Given the description of an element on the screen output the (x, y) to click on. 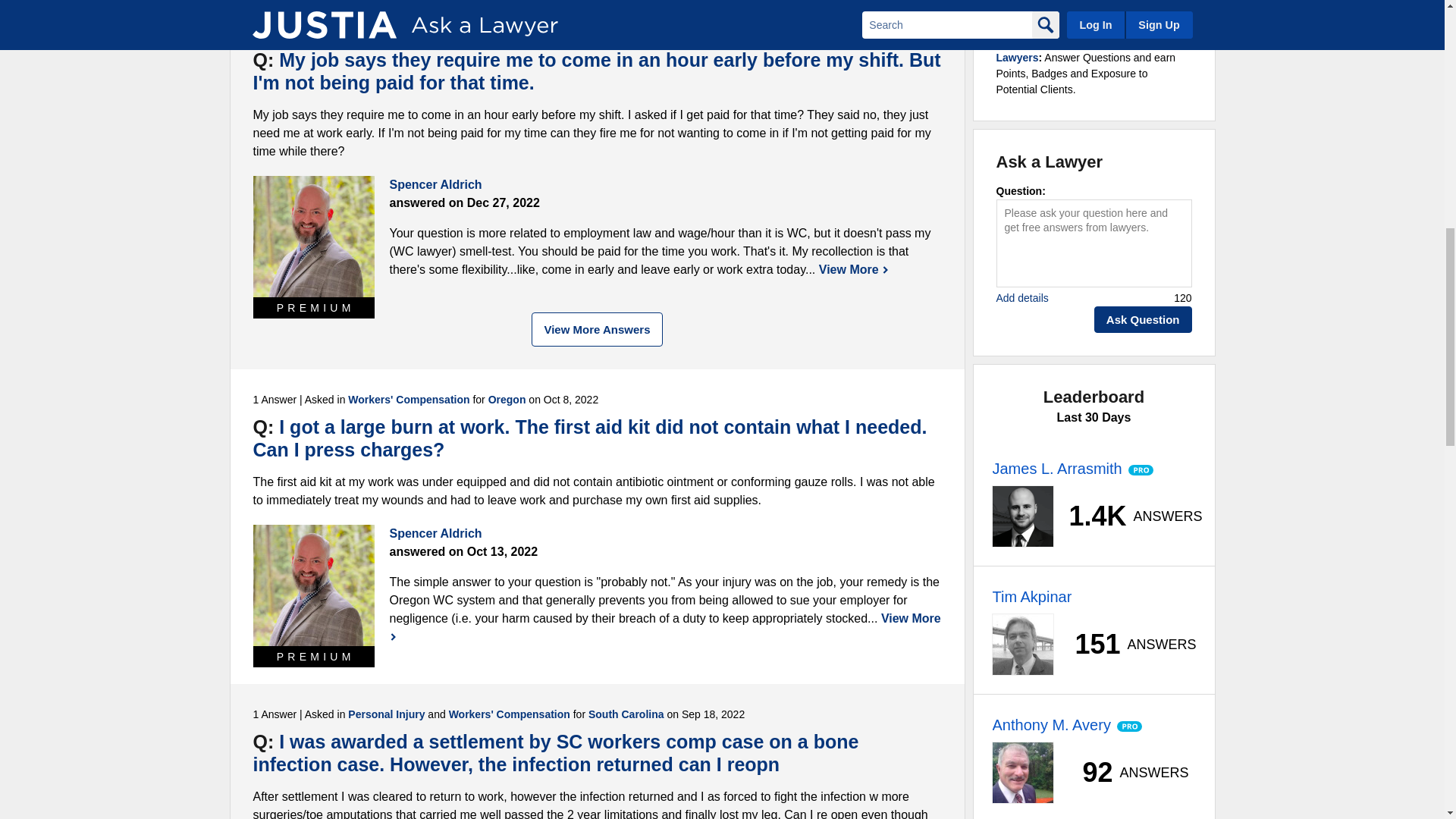
Spencer  Aldrich (313, 236)
Ask a Lawyer - FAQs - Consumers (1024, 15)
Ask a Lawyer - Leaderboard - Lawyer Stats (1127, 515)
Ask a Lawyer - Leaderboard - Lawyer Name (1056, 468)
Ask a Lawyer - Leaderboard - Lawyer Photo (1021, 644)
Ask a Lawyer - Leaderboard - Lawyer Photo (1021, 516)
Ask a Lawyer - Leaderboard - Lawyer Name (1050, 724)
Ask a Lawyer - Leaderboard - Lawyer Photo (1021, 772)
Ask a Lawyer - FAQs - Lawyers (1017, 57)
